Given the description of an element on the screen output the (x, y) to click on. 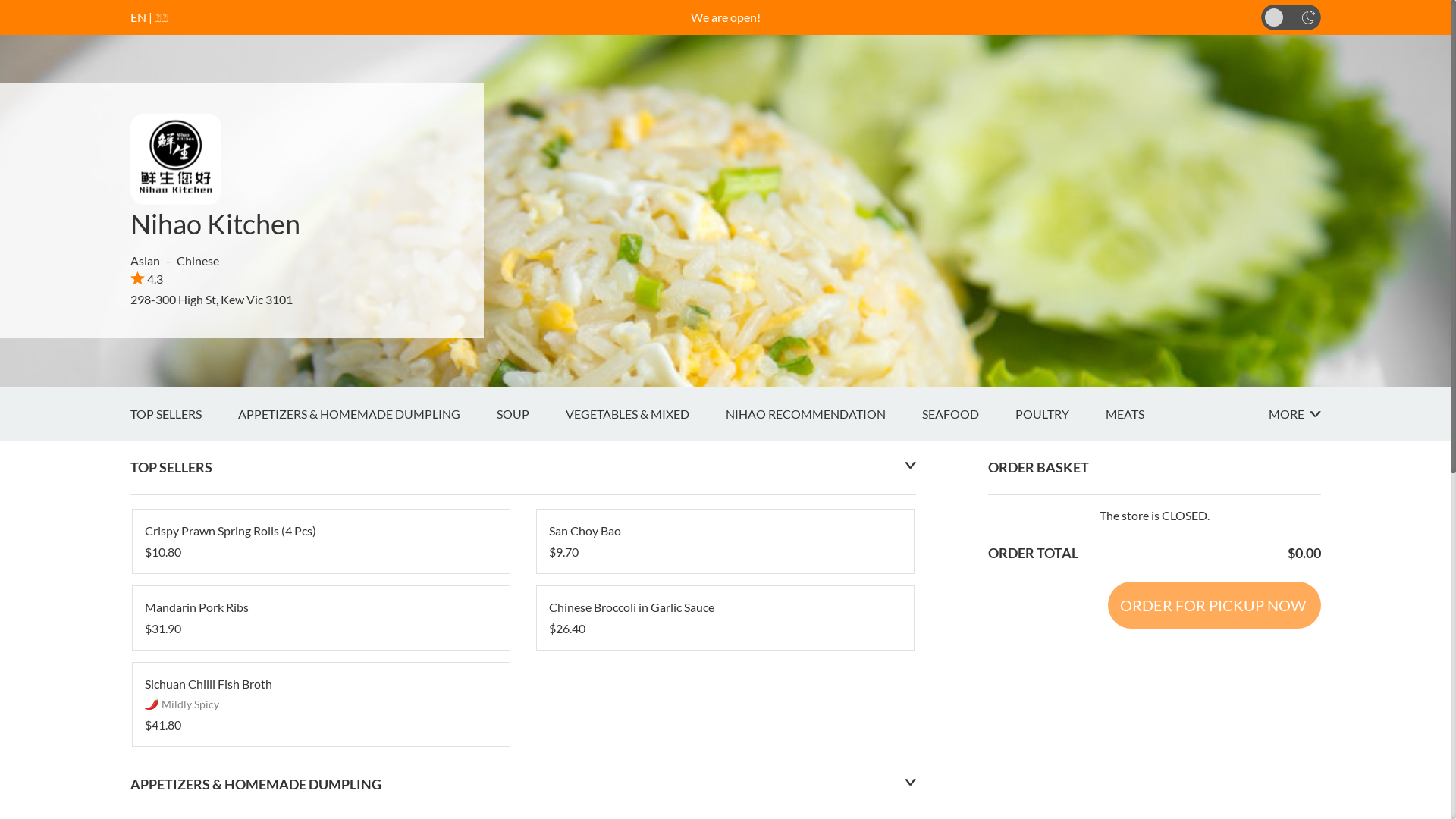
Chinese Broccoli in Garlic Sauce
$26.40 Element type: text (725, 617)
VEGETABLES & MIXED Element type: text (645, 413)
Crispy Prawn Spring Rolls (4 Pcs)
$10.80 Element type: text (320, 541)
Mildly Spicy Element type: hover (151, 703)
Crispy Prawn Spring Rolls (4 Pcs)
$10.80 Element type: text (320, 541)
SEAFOOD Element type: text (968, 413)
SOUP Element type: text (529, 413)
ORDER FOR PICKUP NOW  Element type: text (1213, 604)
San Choy Bao
$9.70 Element type: text (725, 541)
APPETIZERS & HOMEMADE DUMPLING Element type: text (367, 413)
TOP SELLERS Element type: text (184, 413)
EN Element type: text (138, 16)
MEATS Element type: text (1142, 413)
San Choy Bao
$9.70 Element type: text (725, 541)
NIHAO RECOMMENDATION Element type: text (822, 413)
Mandarin Pork Ribs
$31.90 Element type: text (320, 617)
MORE Element type: text (1293, 413)
Sichuan Chilli Fish Broth
Mildly Spicy
$41.80 Element type: text (320, 704)
Sichuan Chilli Fish Broth
Mildly Spicy
$41.80 Element type: text (320, 704)
Chinese Broccoli in Garlic Sauce
$26.40 Element type: text (725, 617)
Mandarin Pork Ribs
$31.90 Element type: text (320, 617)
Nihao Kitchen Element type: text (215, 223)
4.3 Element type: text (146, 278)
POULTRY Element type: text (1059, 413)
